Given the description of an element on the screen output the (x, y) to click on. 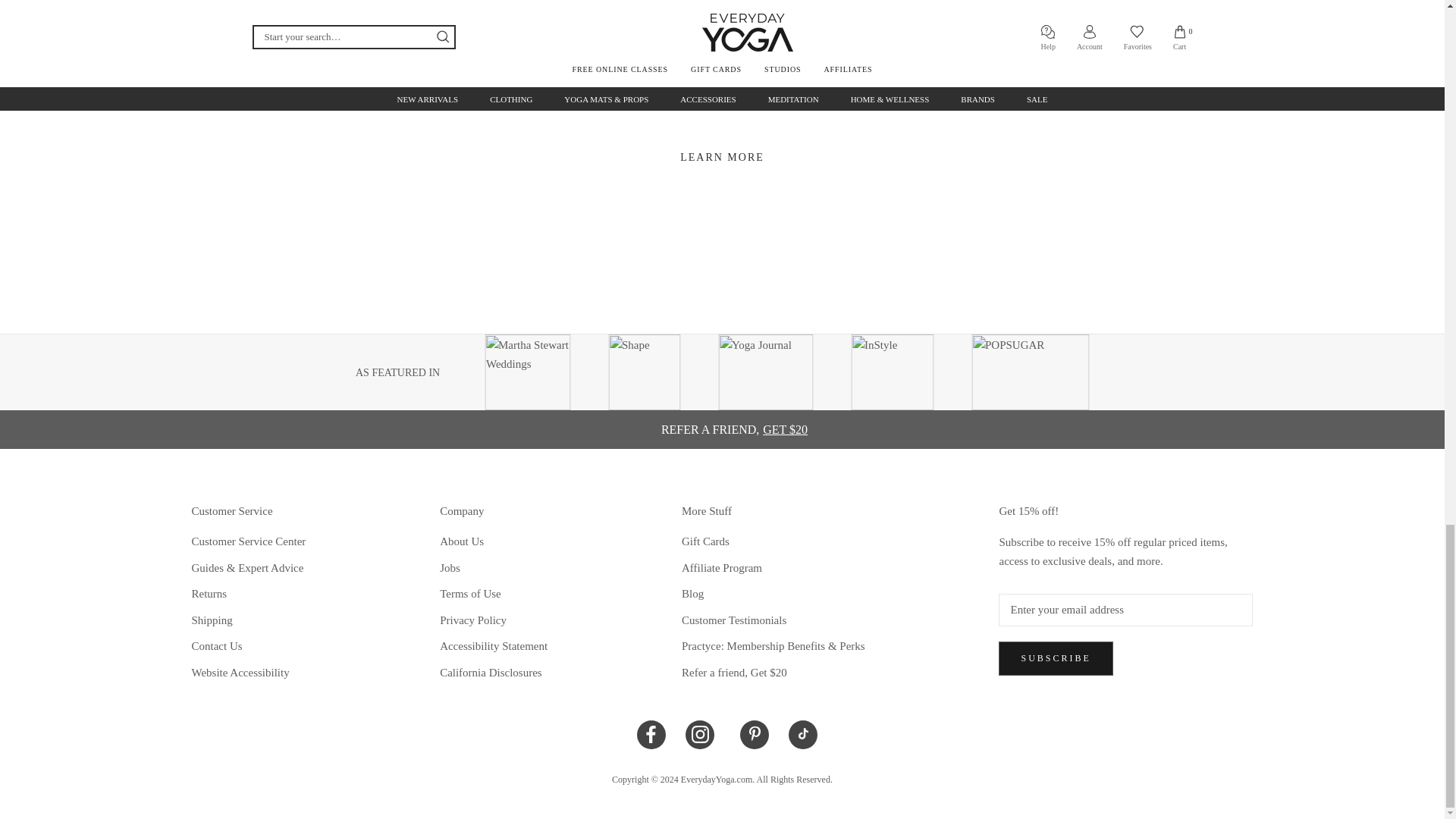
Yoga Journal (764, 372)
Shape (643, 372)
POPSUGAR (1030, 372)
Martha Stewart Weddings (527, 372)
InStyle (891, 372)
